Given the description of an element on the screen output the (x, y) to click on. 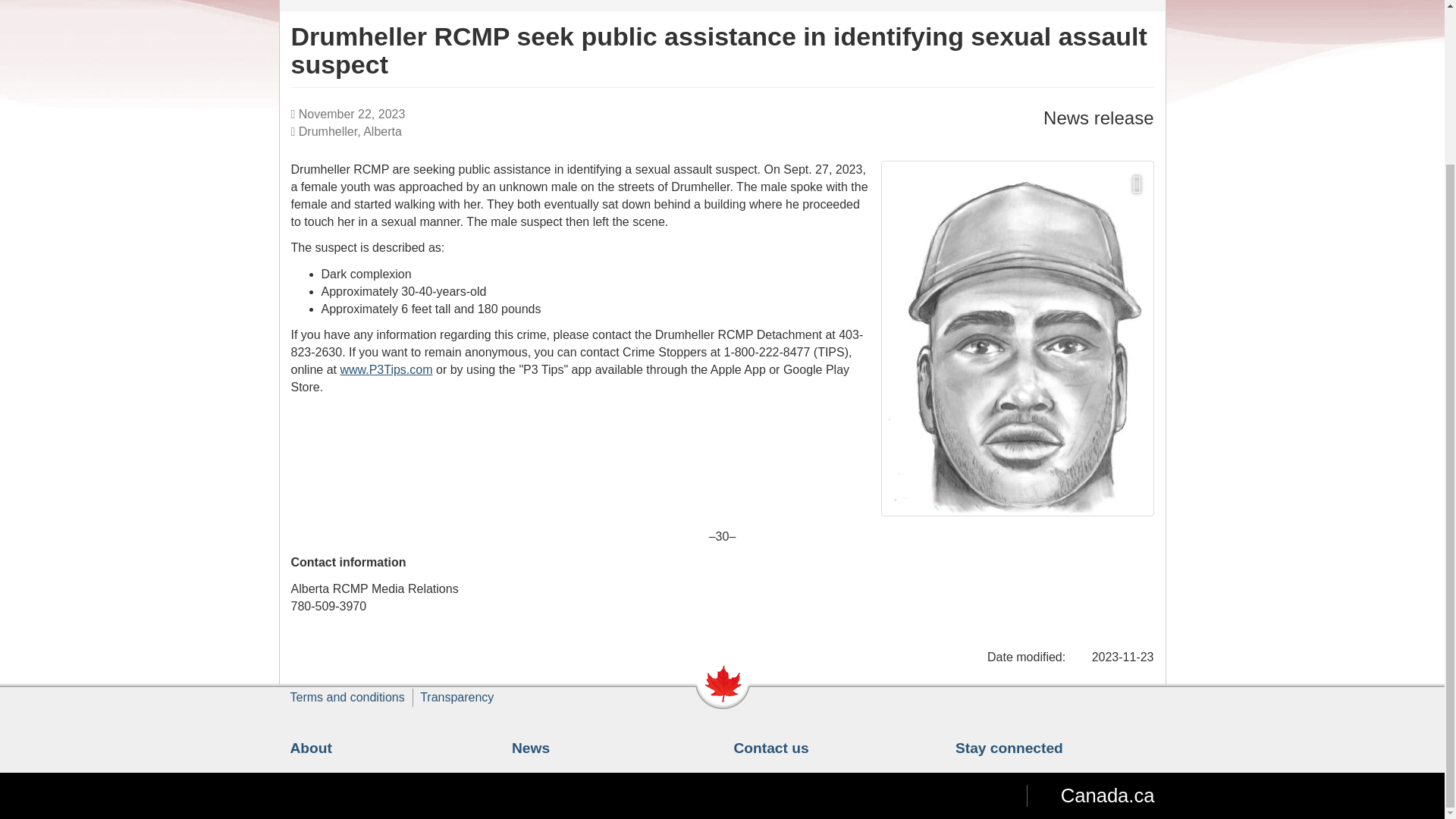
News (531, 747)
www.P3Tips.com (385, 369)
About (310, 747)
Canada.ca (1090, 795)
Terms and conditions (346, 697)
Transparency (456, 697)
Stay connected (1008, 747)
Contact us (771, 747)
